Given the description of an element on the screen output the (x, y) to click on. 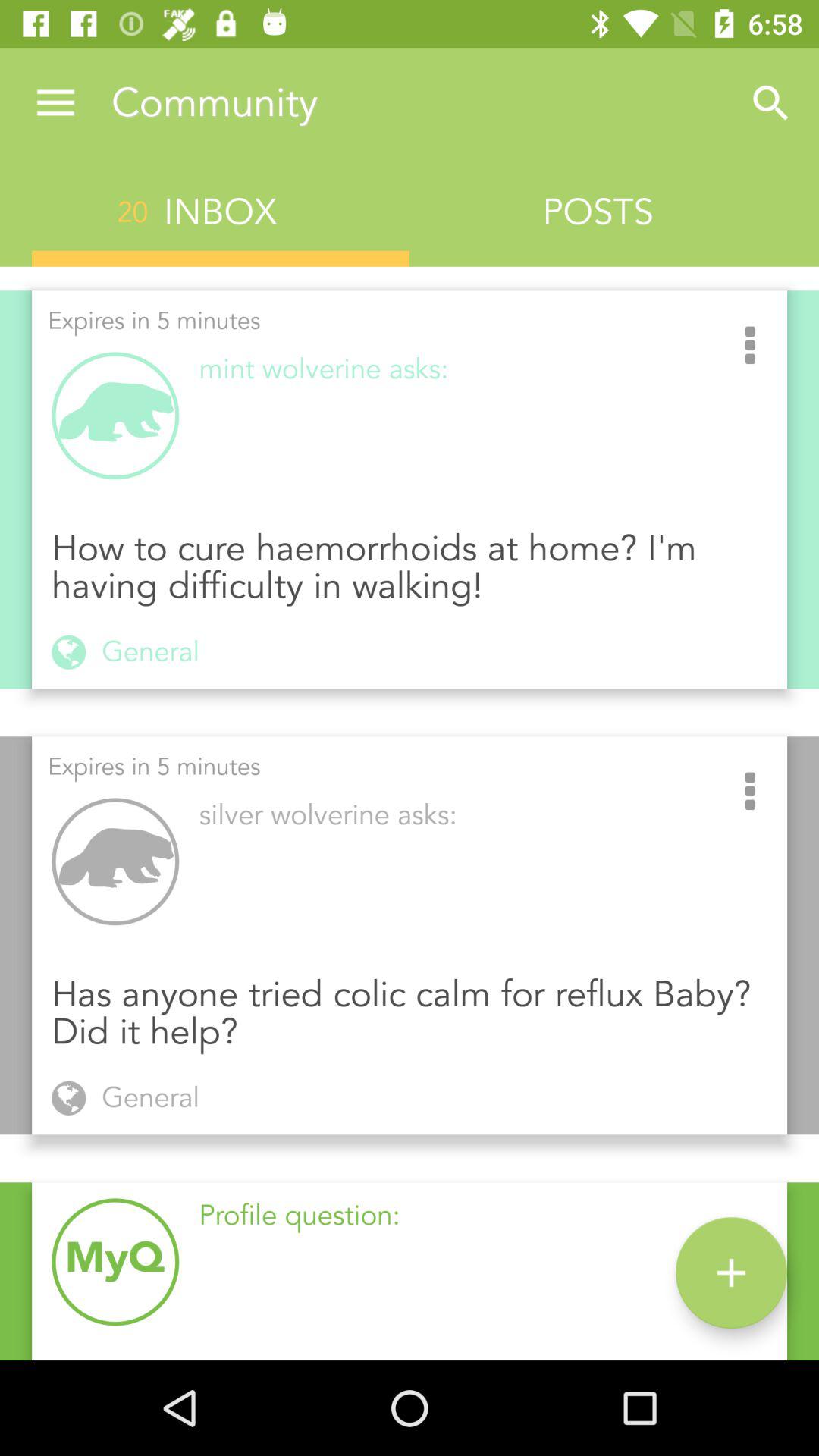
press icon to the right of the profile question: (731, 1272)
